Given the description of an element on the screen output the (x, y) to click on. 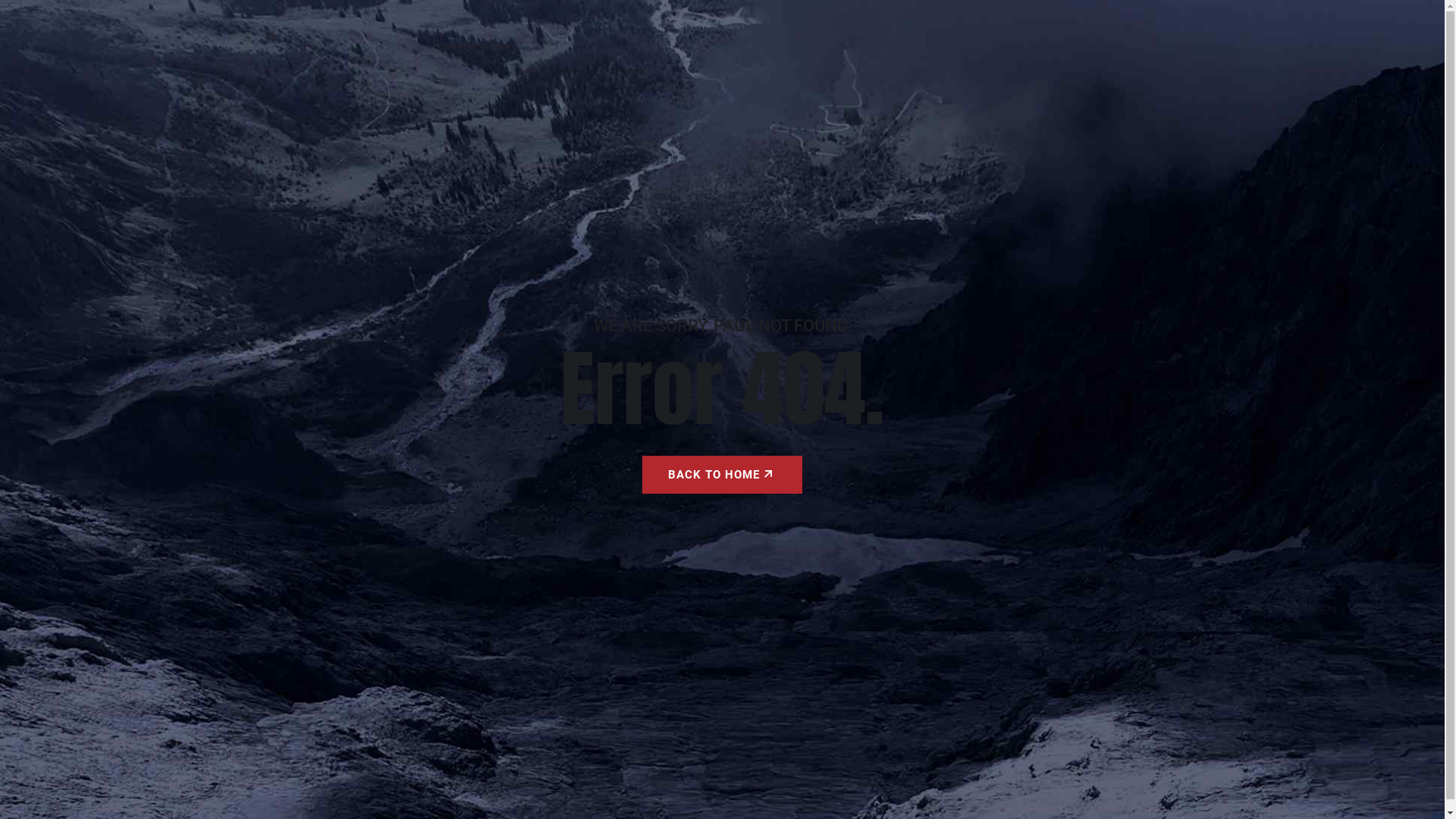
BACK TO HOME Element type: text (722, 474)
